Given the description of an element on the screen output the (x, y) to click on. 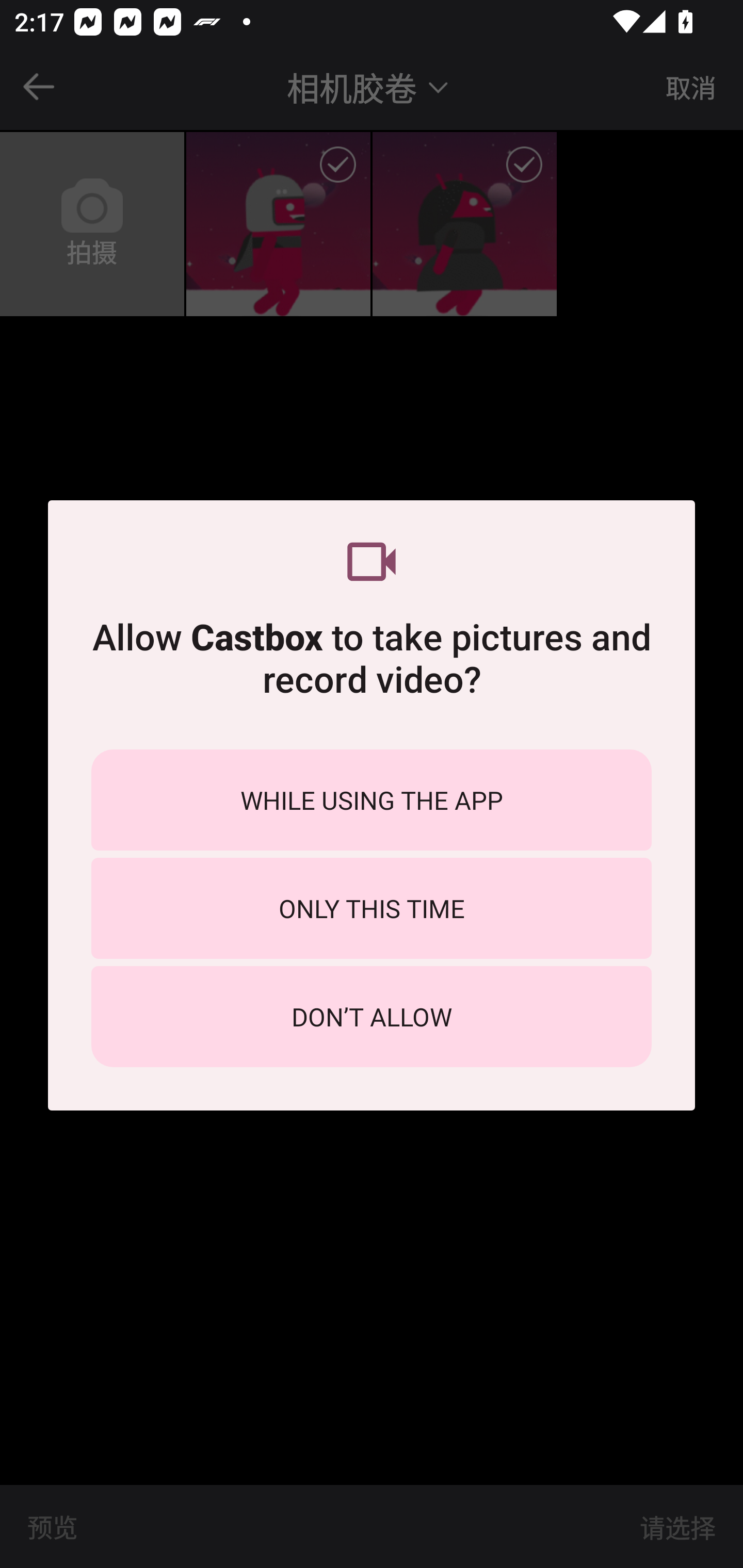
WHILE USING THE APP (371, 799)
ONLY THIS TIME (371, 908)
DON’T ALLOW (371, 1016)
